Given the description of an element on the screen output the (x, y) to click on. 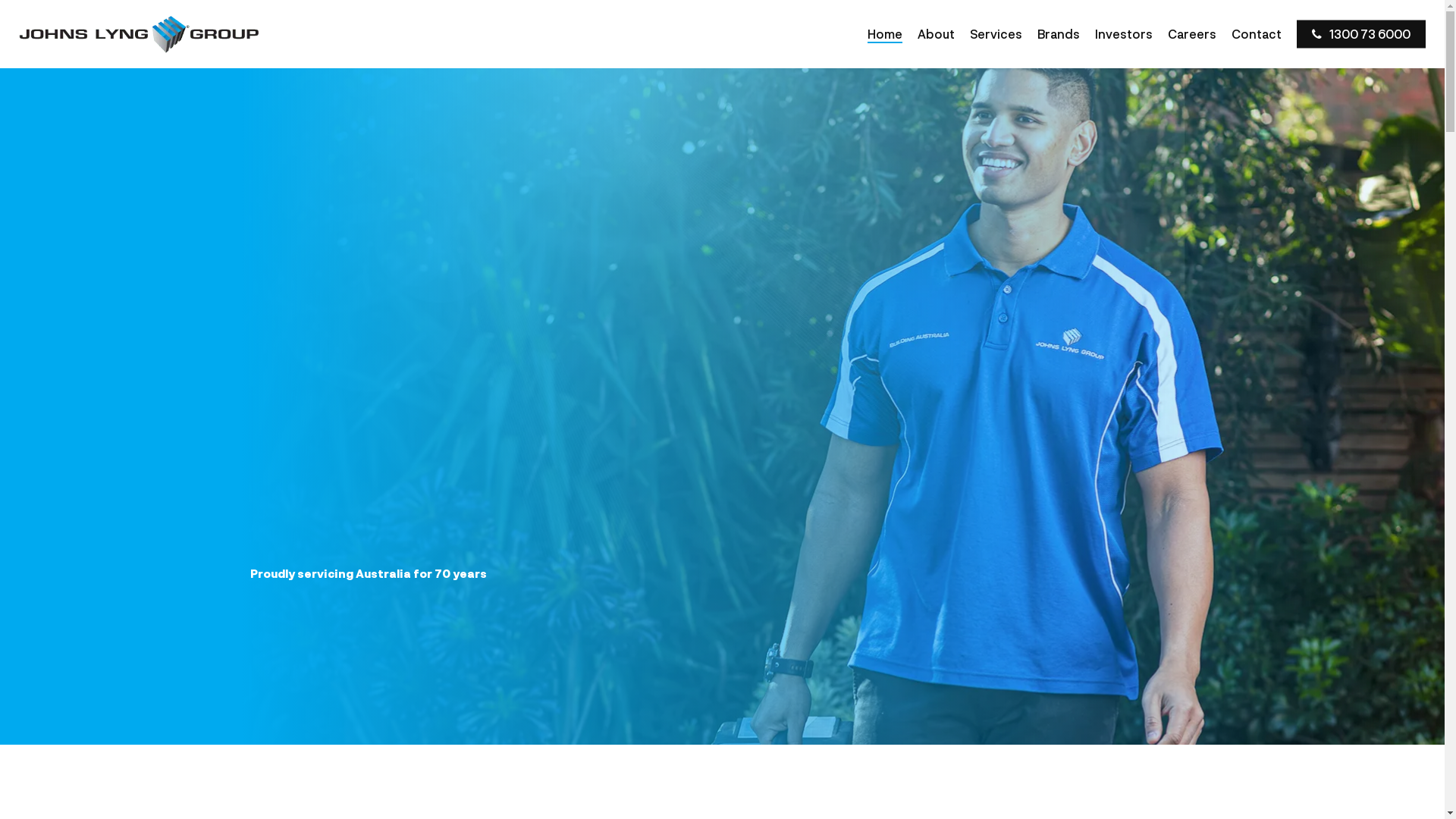
Careers Element type: text (1191, 33)
1300 73 6000 Element type: text (1360, 33)
Contact Element type: text (1256, 33)
Services Element type: text (995, 33)
About Element type: text (935, 33)
Investors Element type: text (1123, 33)
Brands Element type: text (1058, 33)
Home Element type: text (884, 33)
